Given the description of an element on the screen output the (x, y) to click on. 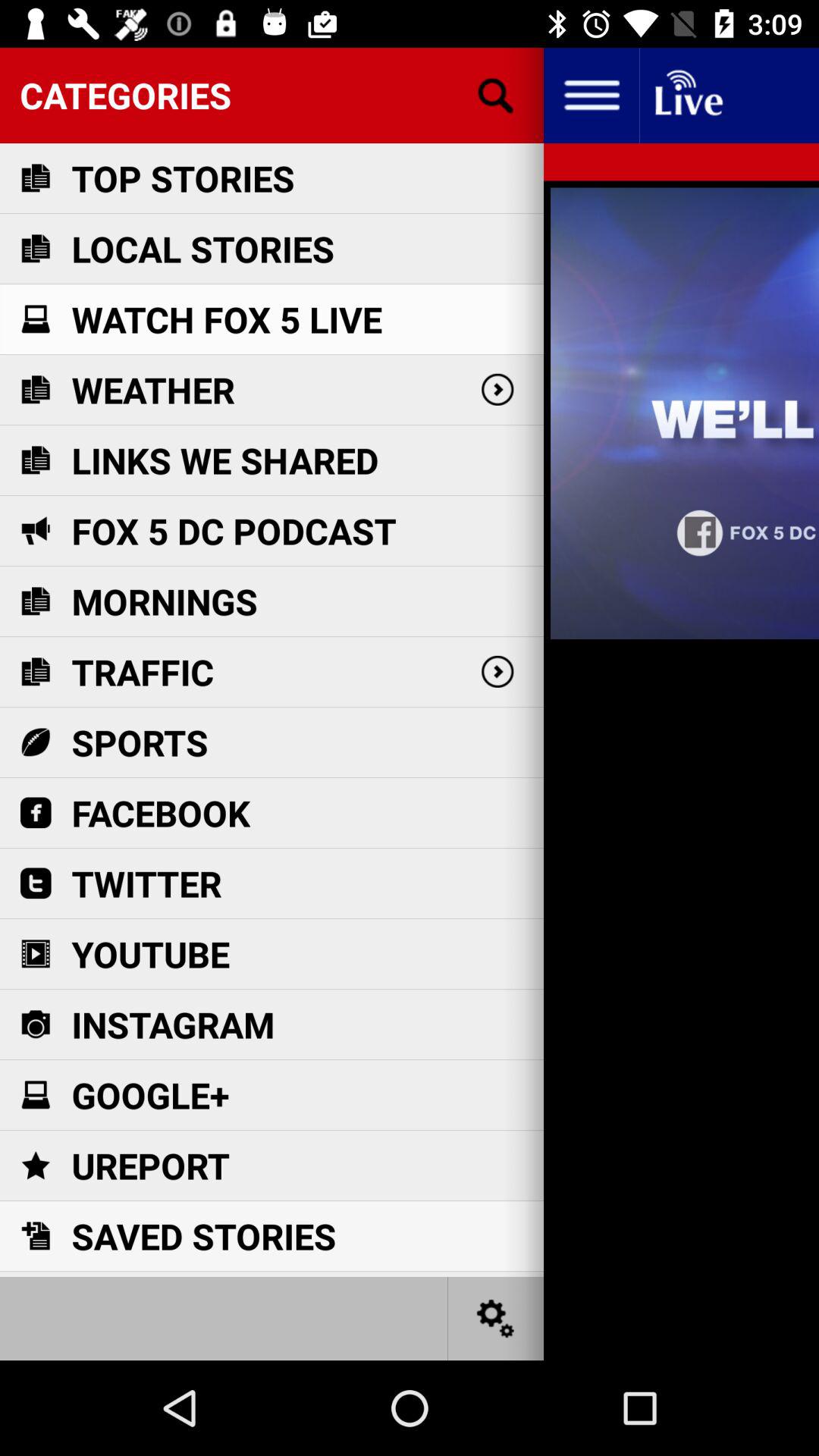
flip to facebook item (160, 812)
